Given the description of an element on the screen output the (x, y) to click on. 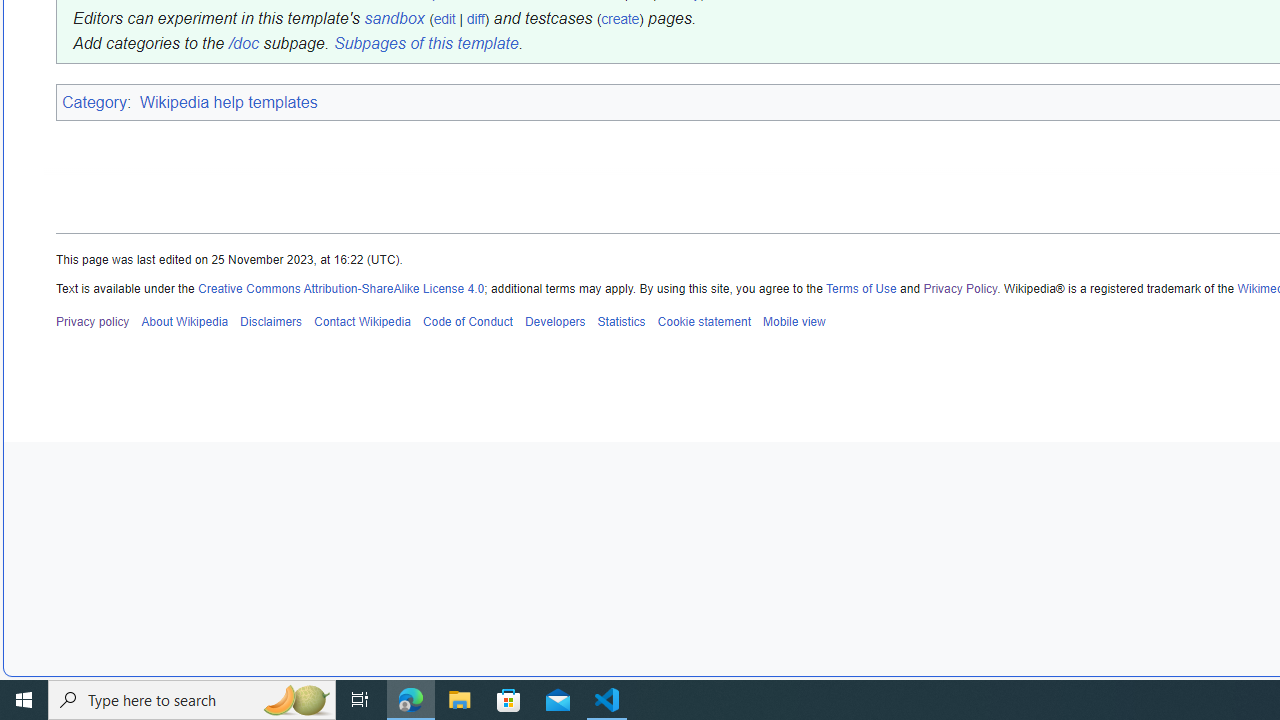
Creative Commons Attribution-ShareAlike License 4.0 (341, 287)
